Given the description of an element on the screen output the (x, y) to click on. 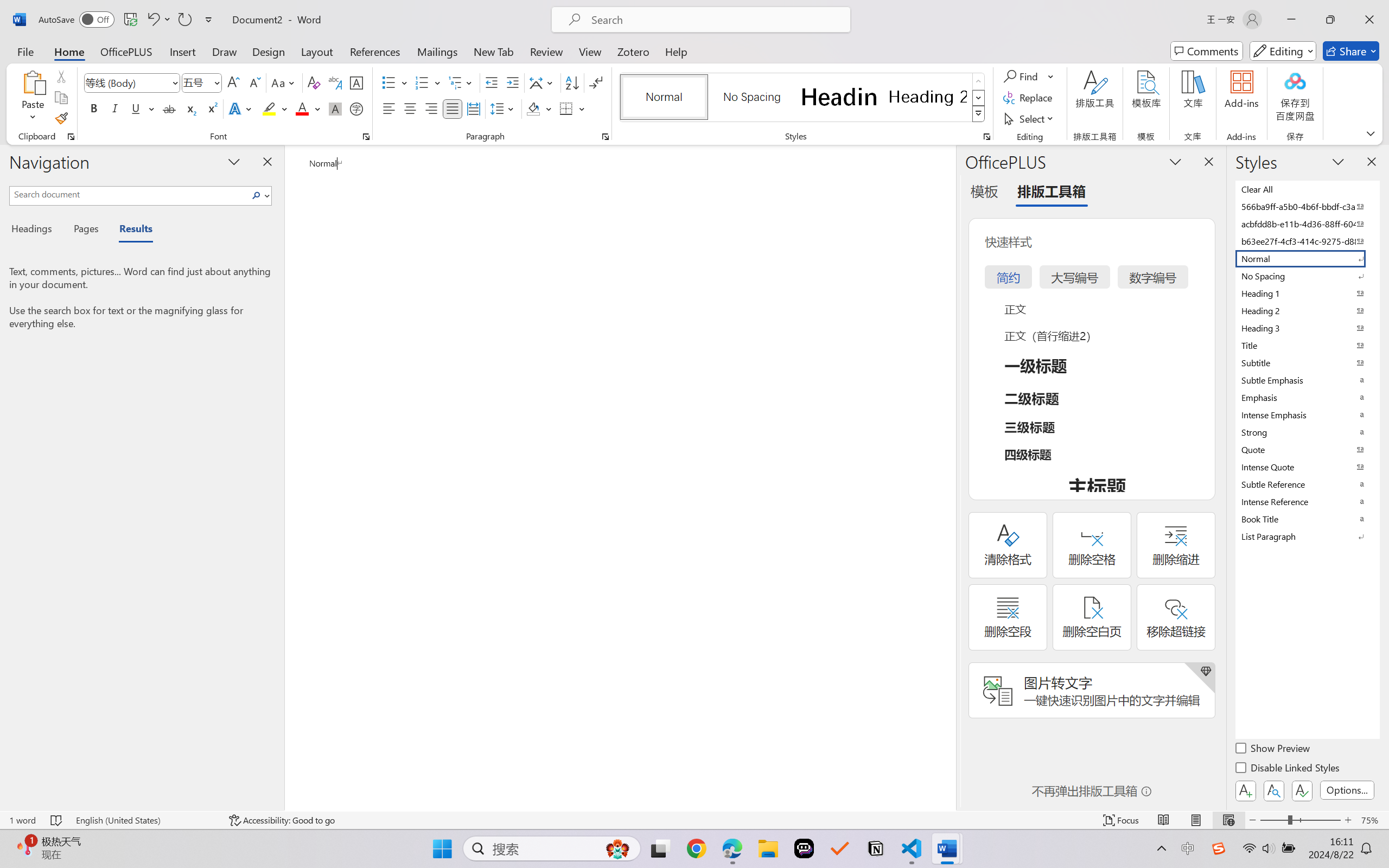
Spelling and Grammar Check No Errors (56, 819)
Search (256, 195)
Home (69, 51)
Replace... (1029, 97)
b63ee27f-4cf3-414c-9275-d88e3f90795e (1306, 240)
Center (409, 108)
